Given the description of an element on the screen output the (x, y) to click on. 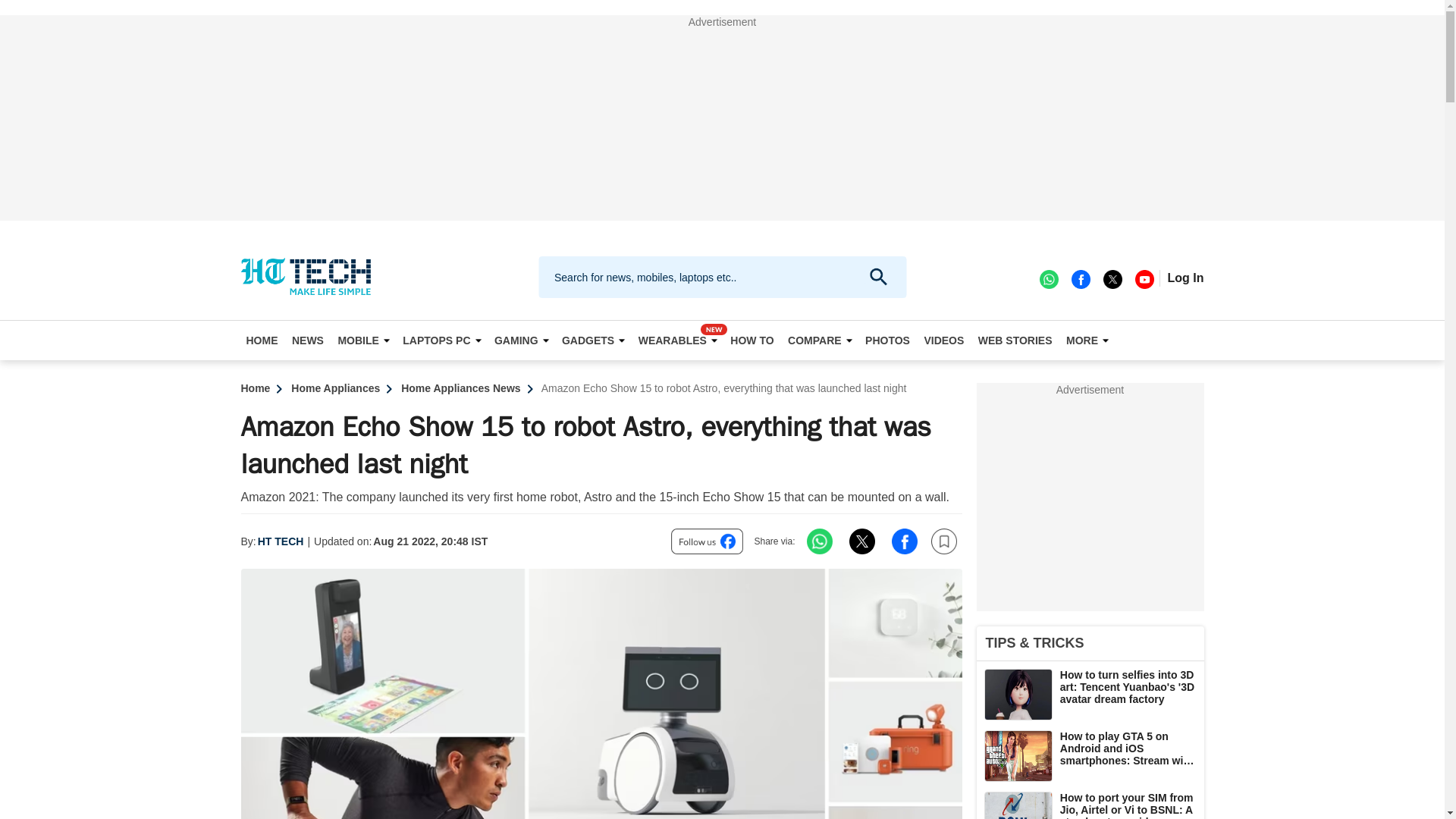
youtube (1143, 278)
WEARABLES (677, 340)
COMPARE (820, 340)
twitter (1111, 278)
MOBILE (362, 340)
Get to know more about News from India and around the world. (307, 340)
HOME (262, 340)
WhatsApp channel (1048, 278)
facebook (1079, 278)
Login (1185, 277)
GADGETS (592, 340)
HOW TO (751, 340)
NEWS (307, 340)
